Given the description of an element on the screen output the (x, y) to click on. 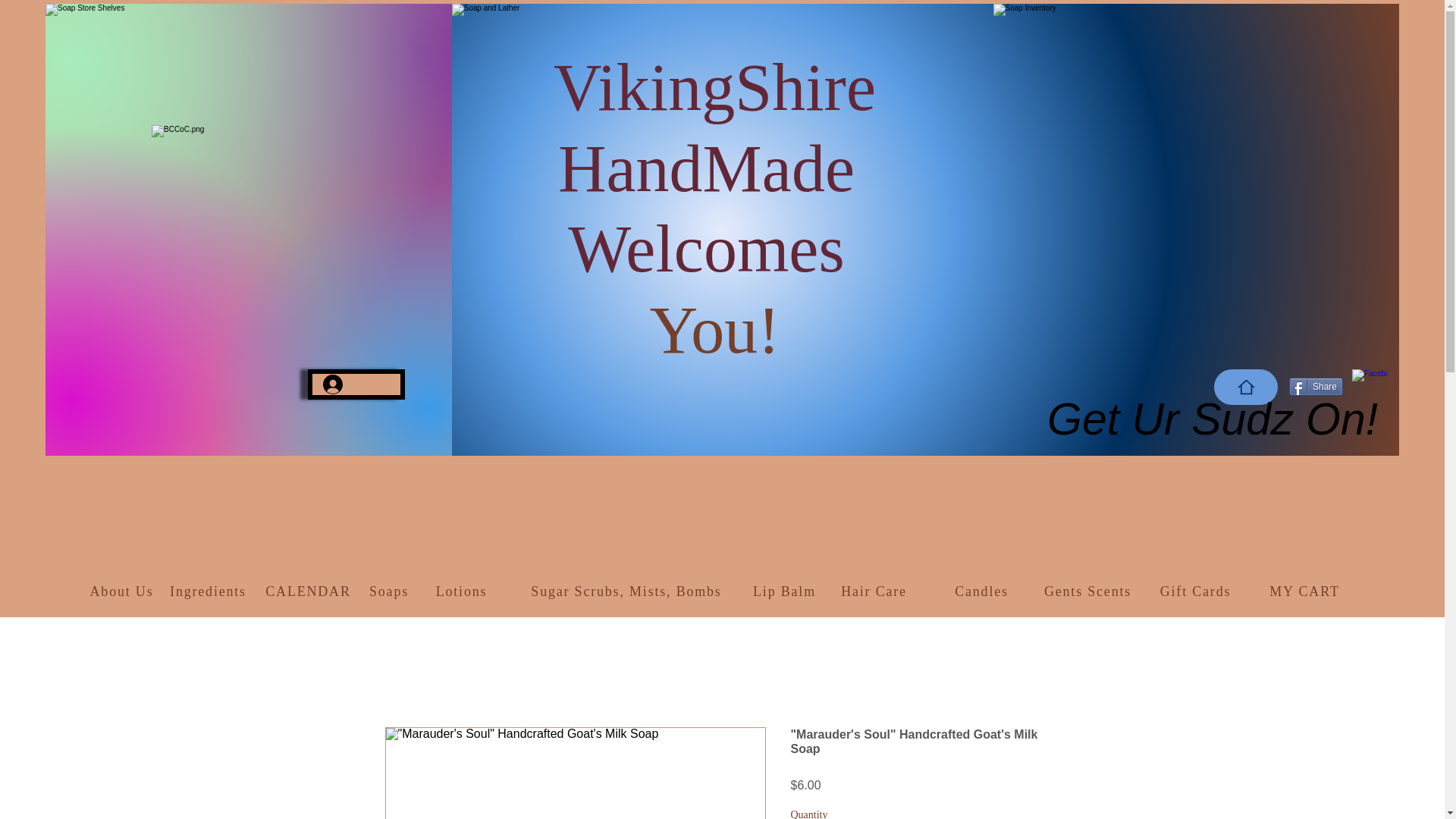
Share (1315, 386)
Hair Care (876, 591)
Ingredients (209, 591)
MY CART (1305, 591)
Log In (356, 384)
Share (1315, 386)
Soaps (390, 591)
Candles (983, 591)
Lotions (462, 591)
Sugar Scrubs, Mists, Bombs (627, 591)
